Given the description of an element on the screen output the (x, y) to click on. 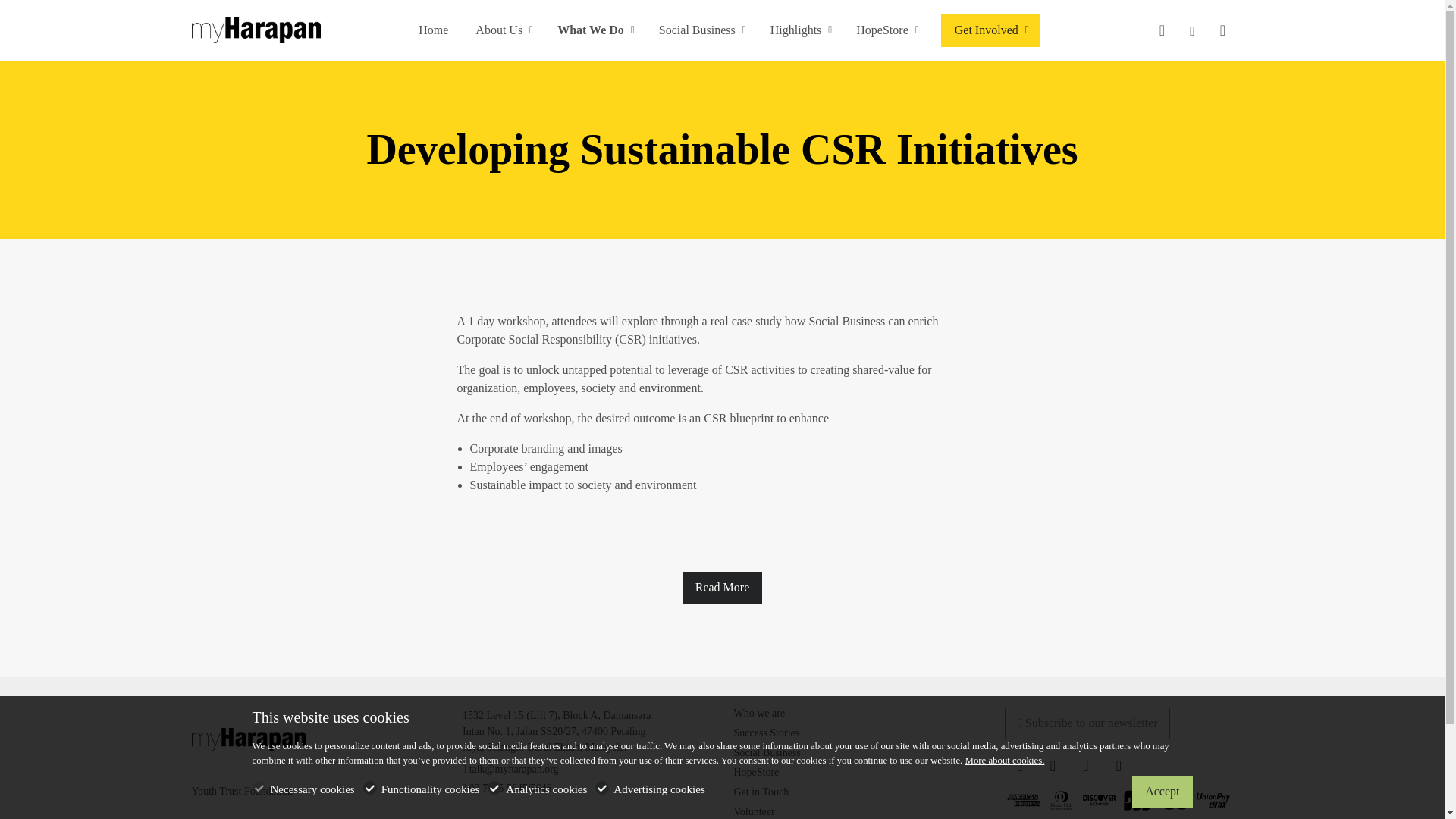
myHarapan (255, 29)
HopeStore (755, 772)
Home (432, 29)
Social Business (766, 752)
myHarapan (247, 739)
About Us (502, 29)
Success Stories (766, 732)
What We Do (594, 29)
Read More (722, 587)
Who we are (759, 713)
Volunteer (753, 811)
Get in Touch (761, 791)
